Given the description of an element on the screen output the (x, y) to click on. 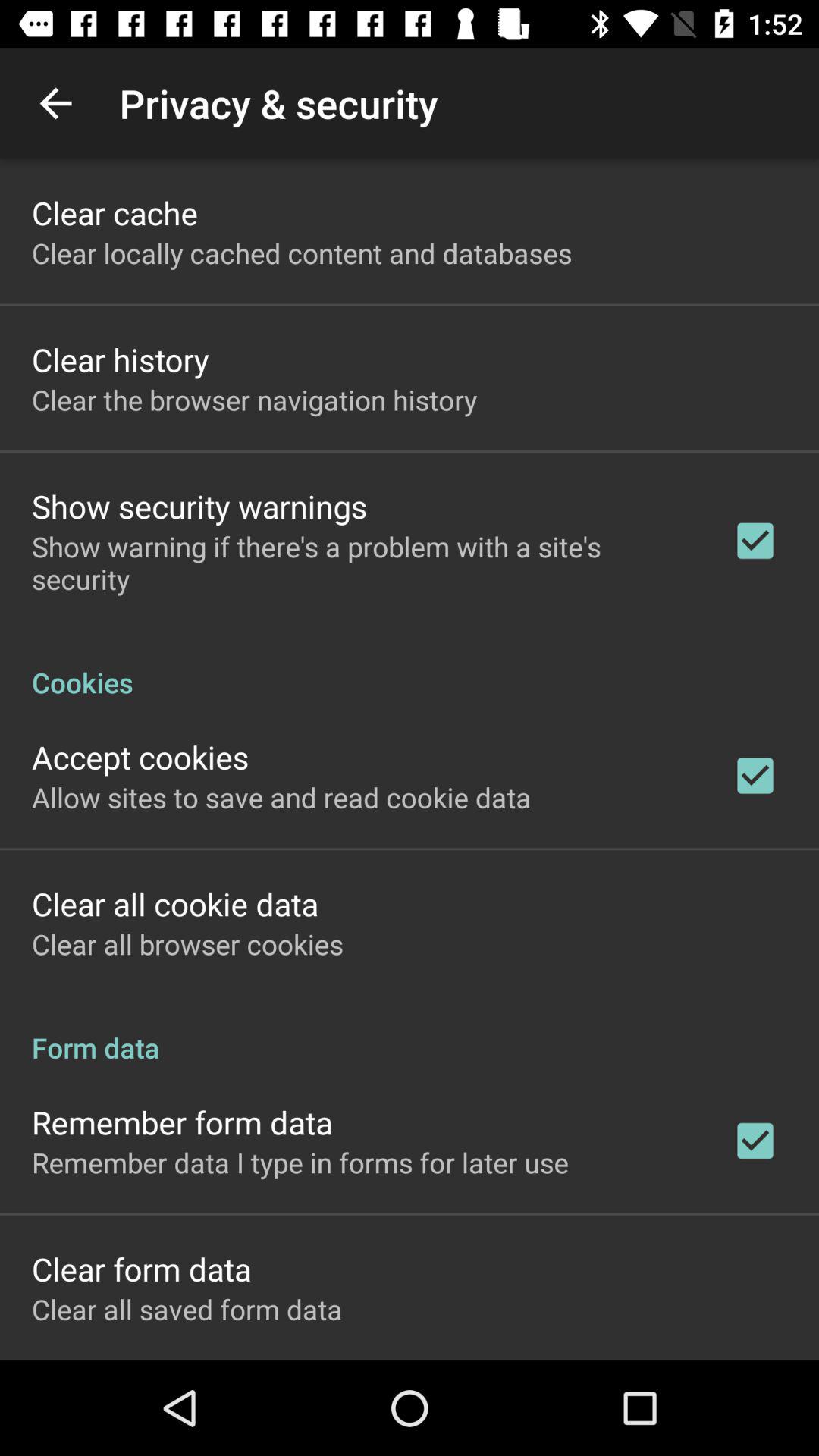
scroll to the clear cache item (114, 212)
